Given the description of an element on the screen output the (x, y) to click on. 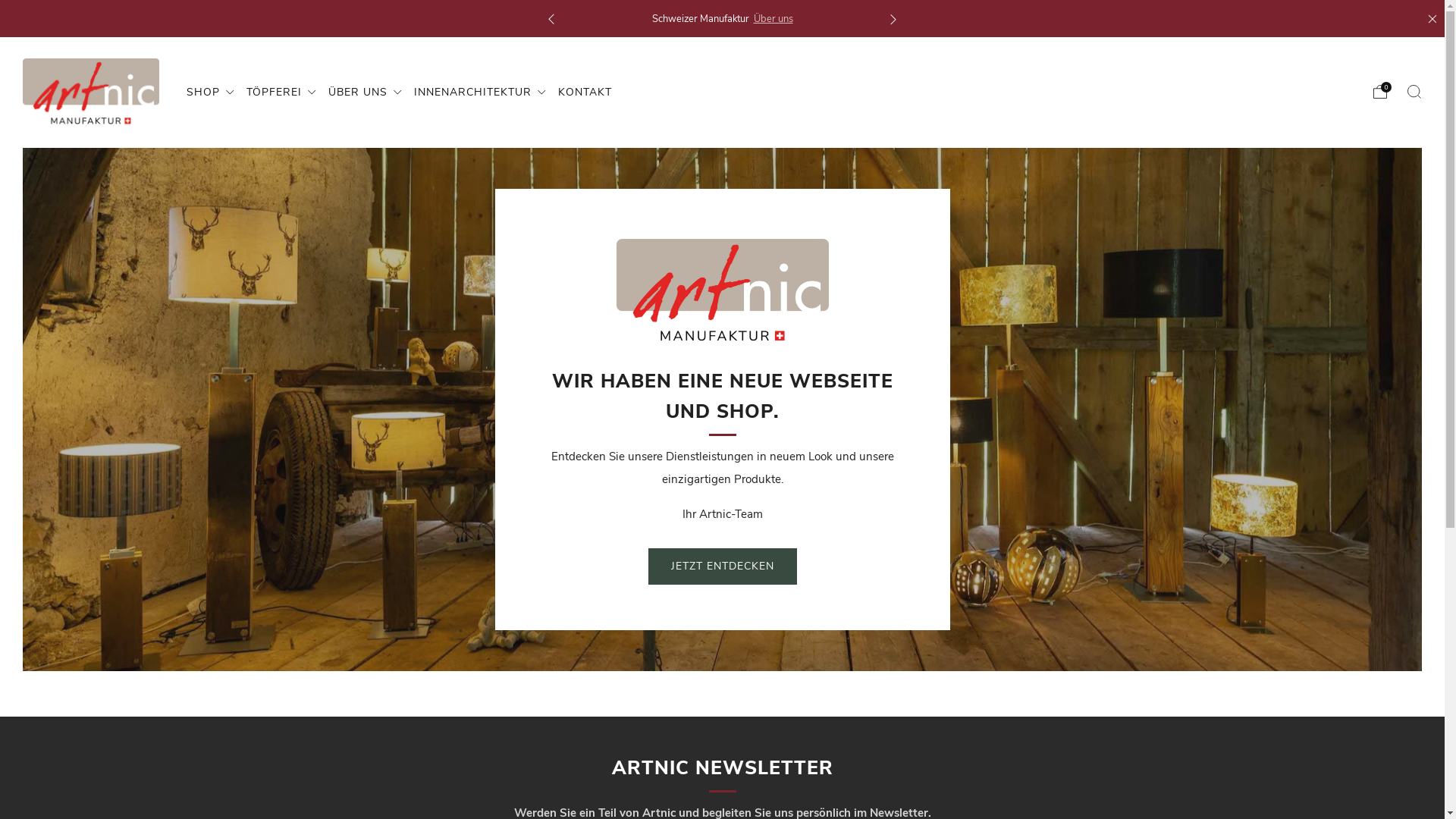
JETZT ENTDECKEN Element type: text (721, 566)
KONTAKT Element type: text (584, 92)
INNENARCHITEKTUR Element type: text (480, 92)
Neues Atelier und Showroom Element type: text (770, 18)
0 Element type: text (1379, 90)
SHOP Element type: text (210, 92)
